Given the description of an element on the screen output the (x, y) to click on. 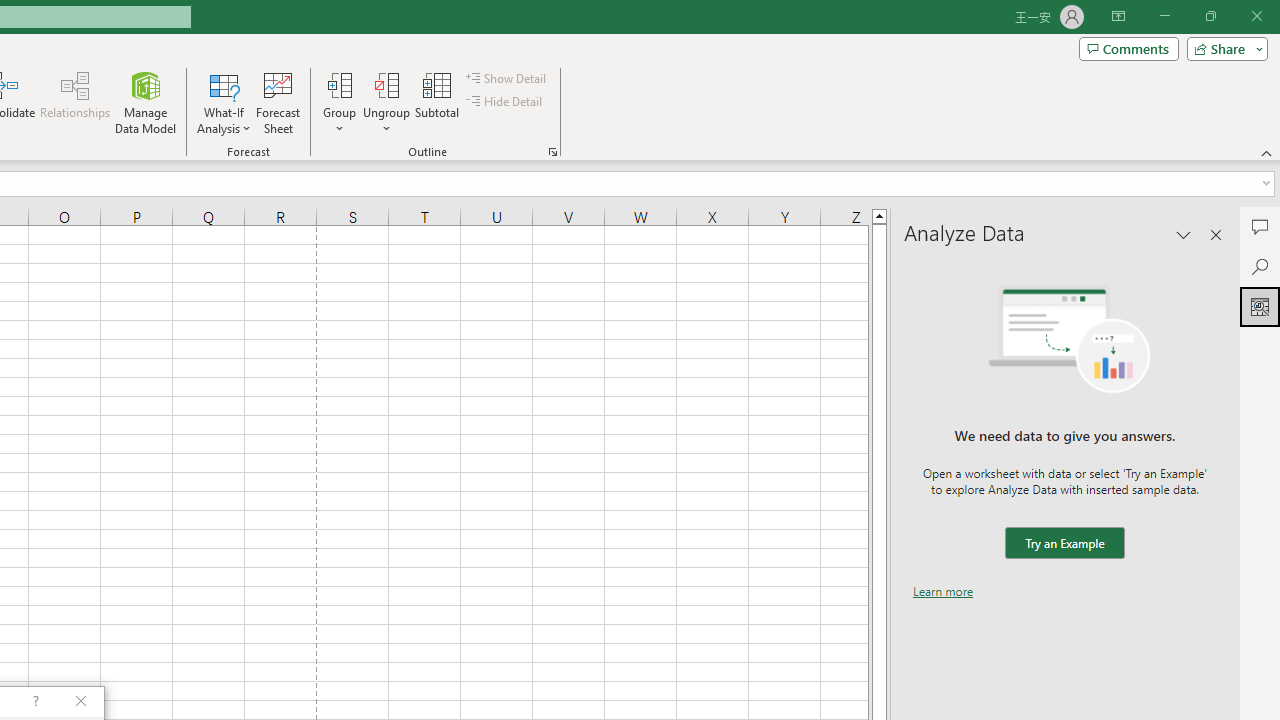
Ungroup... (386, 102)
Forecast Sheet (278, 102)
Group... (339, 102)
Analyze Data (1260, 306)
Search (1260, 266)
Manage Data Model (145, 102)
Restore Down (1210, 16)
Close pane (1215, 234)
